Given the description of an element on the screen output the (x, y) to click on. 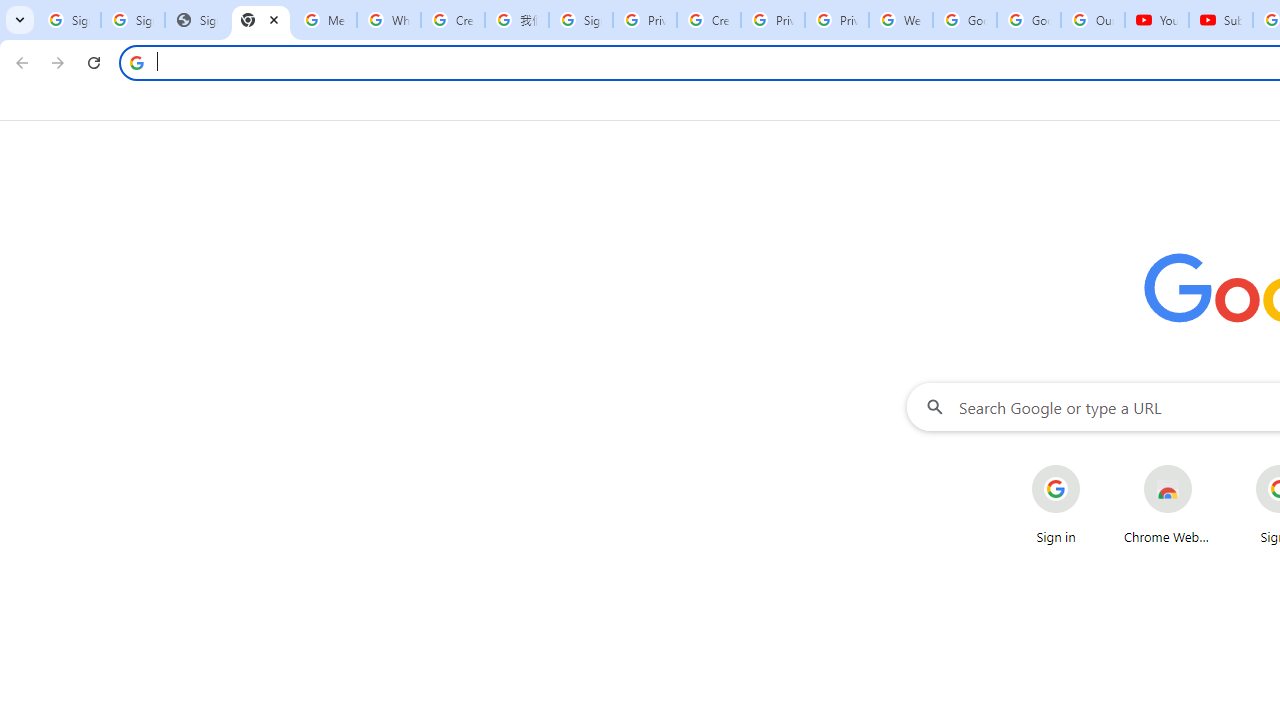
More actions for Chrome Web Store shortcut (1208, 466)
Back (19, 62)
Close (273, 19)
Search icon (136, 62)
Sign in - Google Accounts (69, 20)
New Tab (261, 20)
Sign in - Google Accounts (581, 20)
Sign in - Google Accounts (133, 20)
YouTube (1157, 20)
Sign In - USA TODAY (197, 20)
Welcome to My Activity (901, 20)
Forward (57, 62)
